Given the description of an element on the screen output the (x, y) to click on. 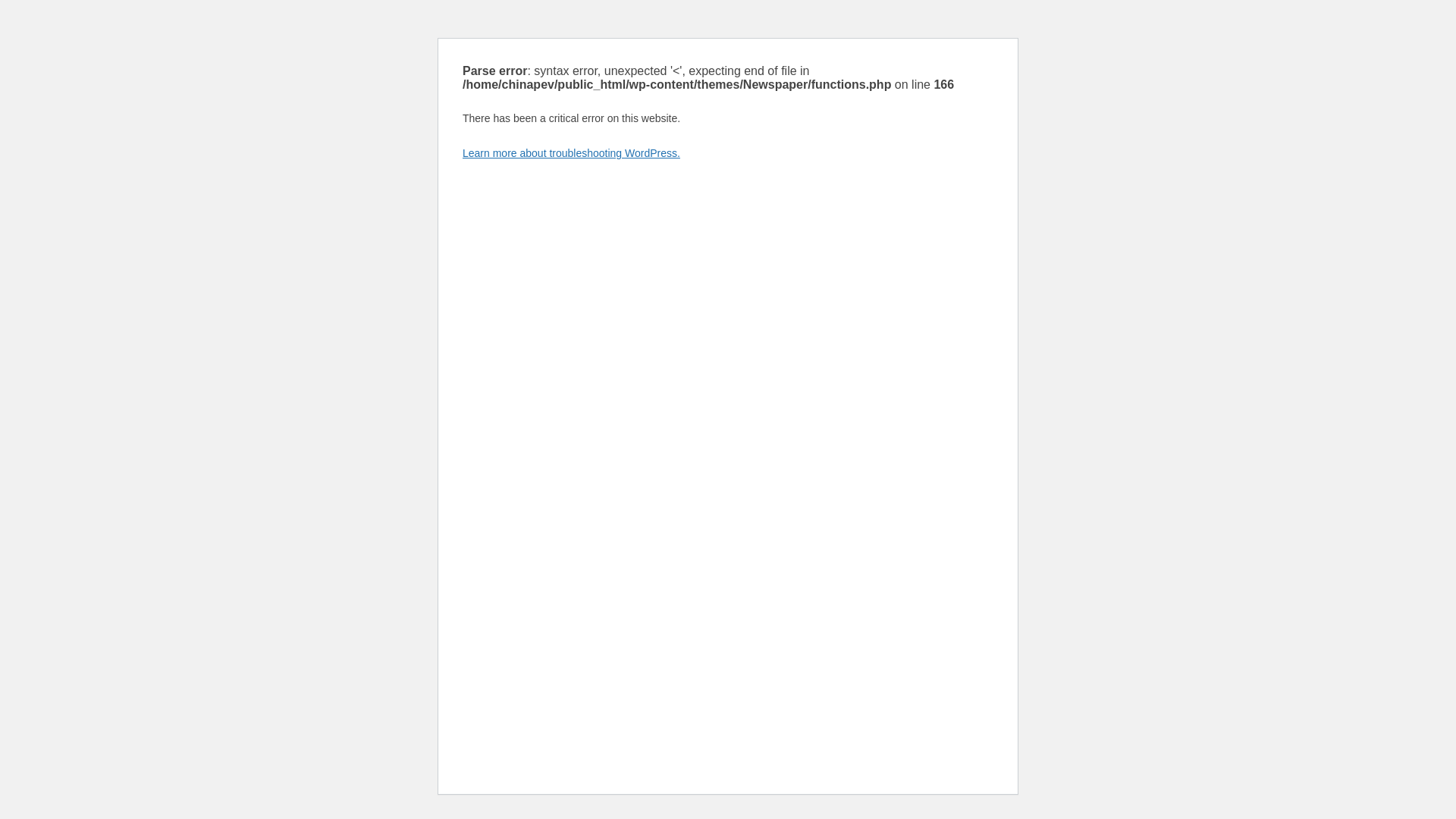
Learn more about troubleshooting WordPress. (571, 152)
